Given the description of an element on the screen output the (x, y) to click on. 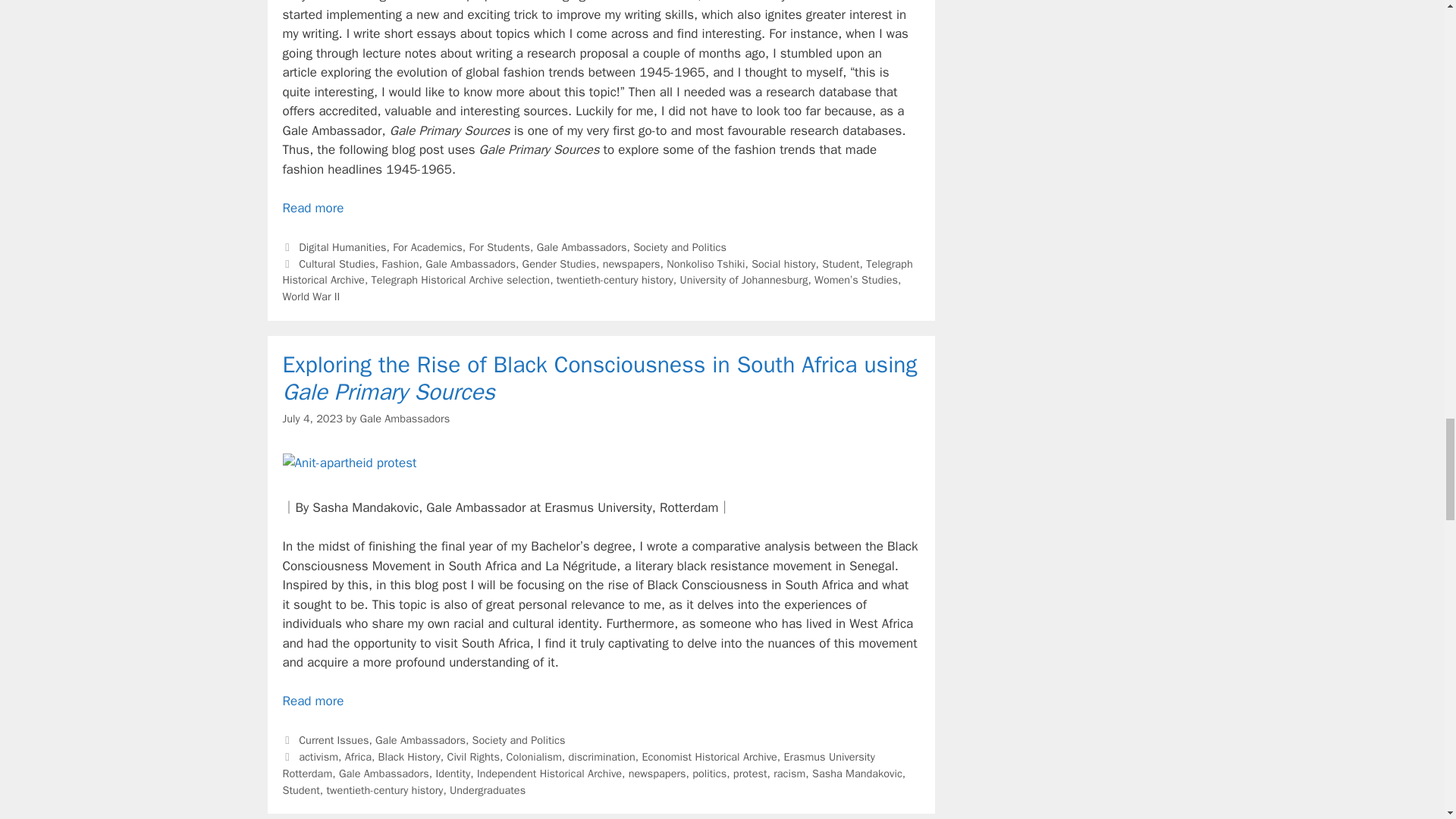
Developments in the Fashion Industry Post-WWII (312, 207)
View all posts by Gale Ambassadors (404, 418)
